Given the description of an element on the screen output the (x, y) to click on. 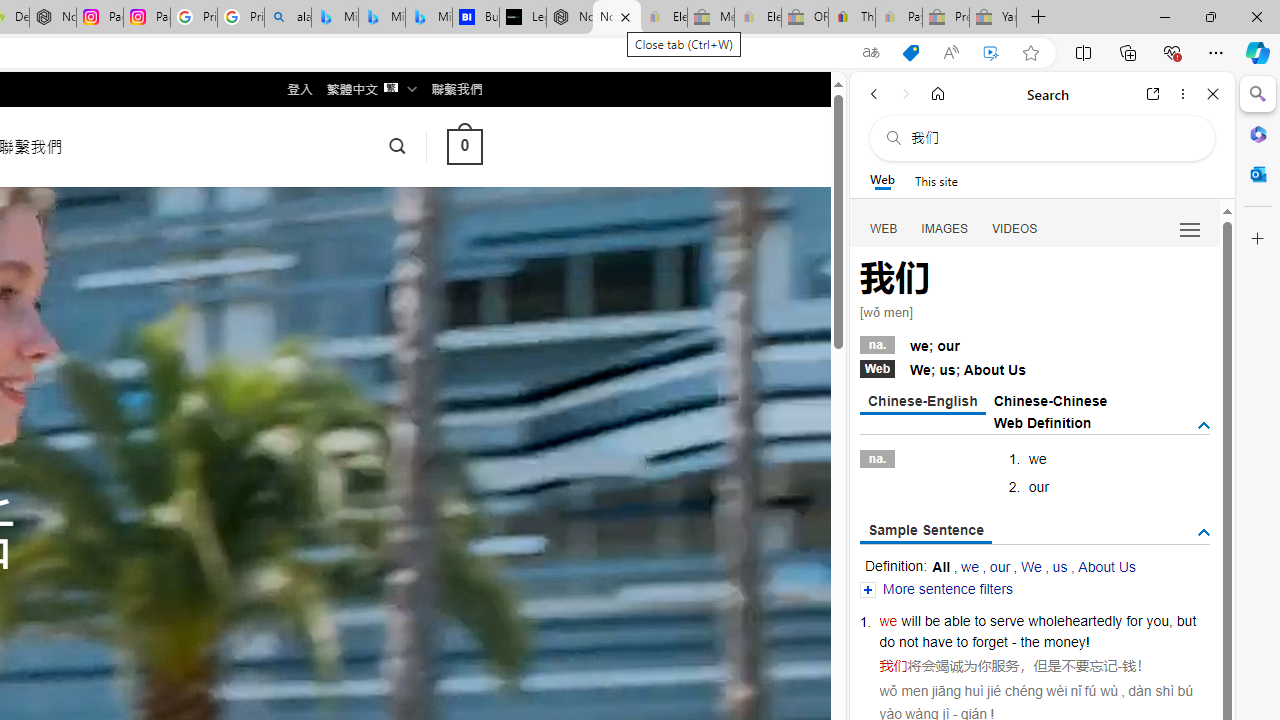
Microsoft Bing Travel - Flights from Hong Kong to Bangkok (335, 17)
but (1186, 620)
Chinese-Chinese (1050, 400)
Yard, Garden & Outdoor Living - Sleeping (993, 17)
for (1134, 620)
Enhance video (991, 53)
Chinese-English (922, 402)
